Given the description of an element on the screen output the (x, y) to click on. 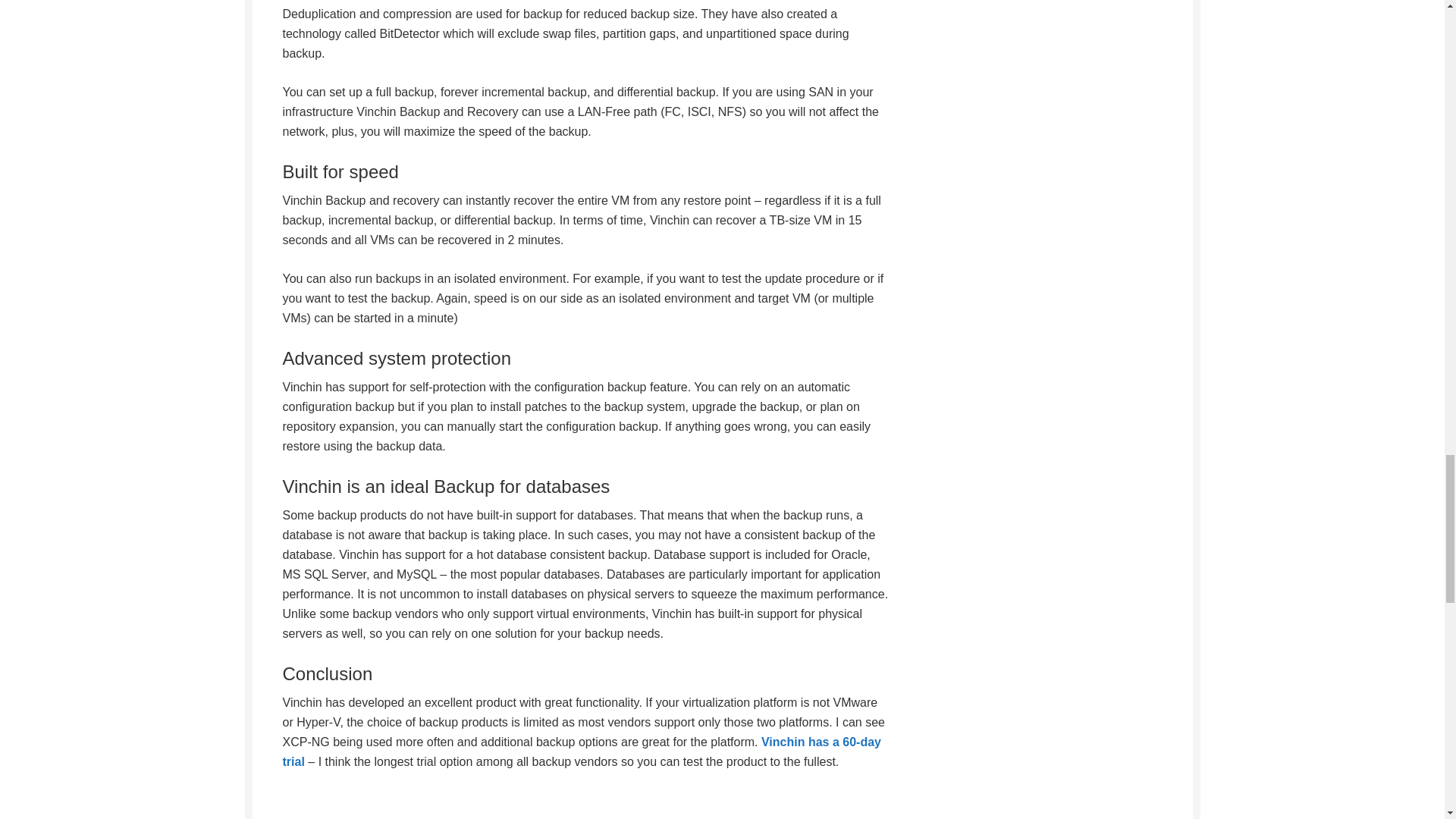
Vinchin has a 60-day trial (581, 751)
